Given the description of an element on the screen output the (x, y) to click on. 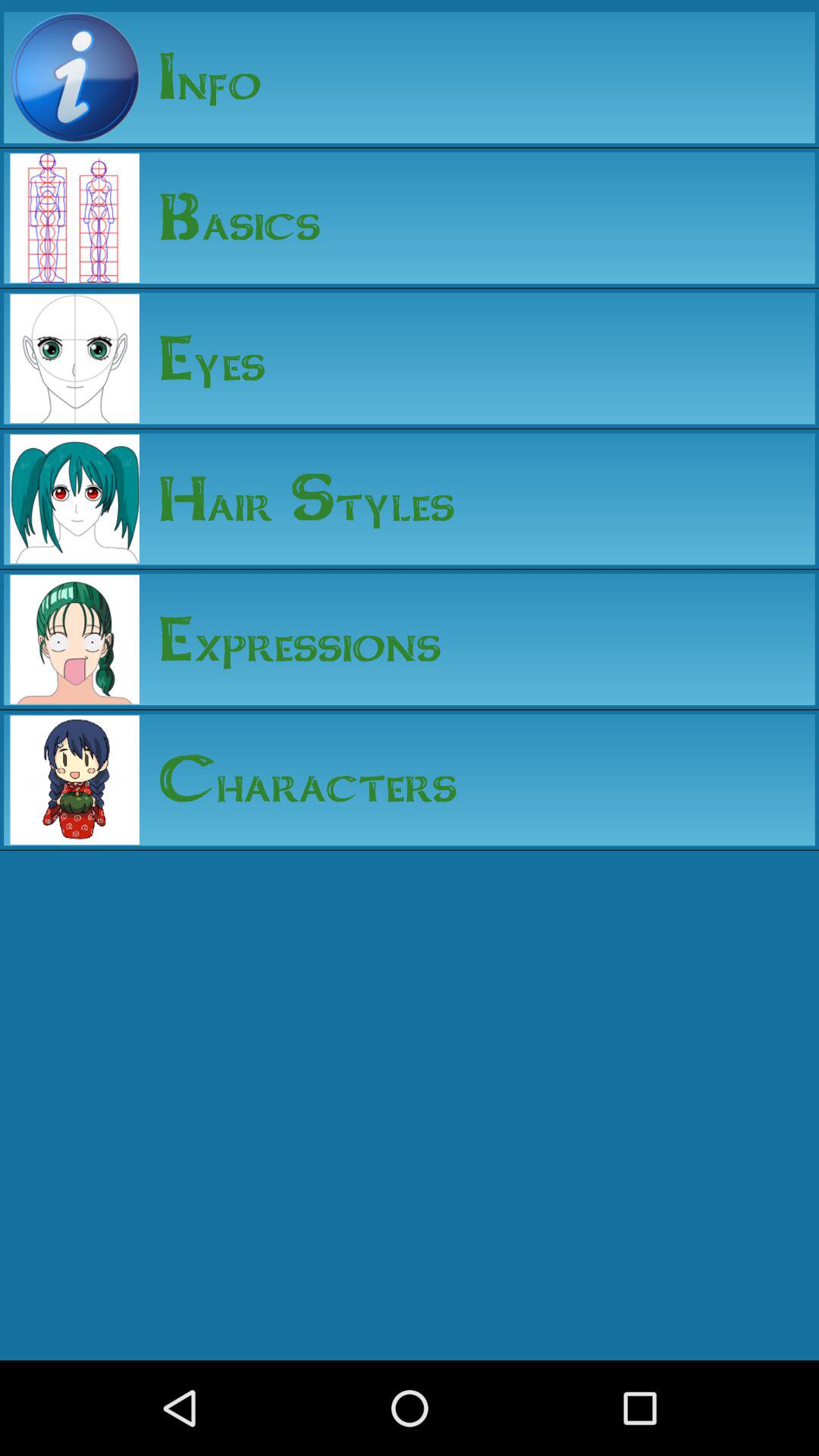
flip to characters app (298, 779)
